Given the description of an element on the screen output the (x, y) to click on. 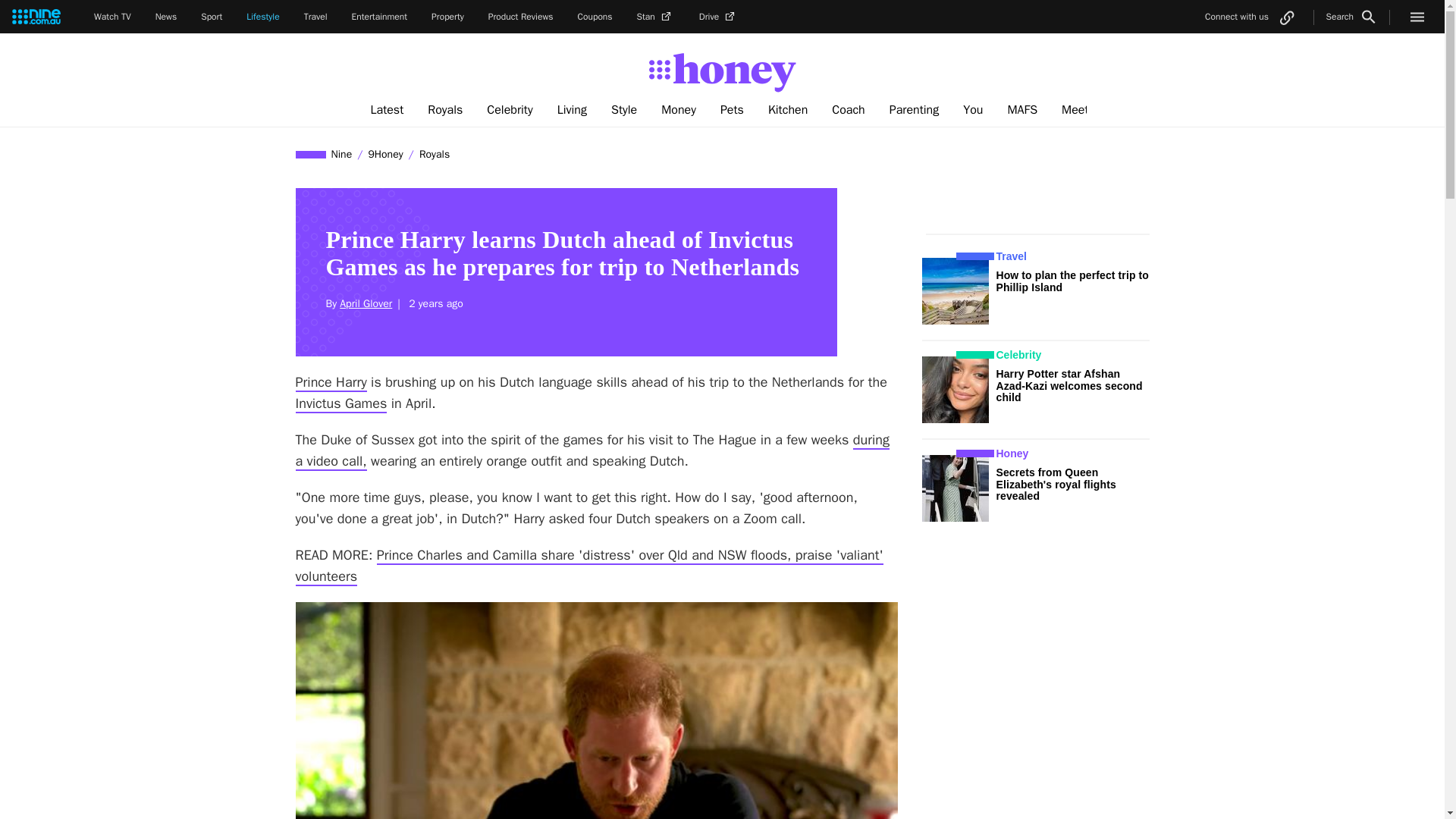
Prince Harry (330, 382)
Living (571, 109)
2022-03-12 21:12 (433, 303)
Drive (718, 16)
Stan (656, 16)
Coupons (595, 16)
Property (447, 16)
Royals (444, 109)
Product Reviews (520, 16)
Latest (386, 109)
